Given the description of an element on the screen output the (x, y) to click on. 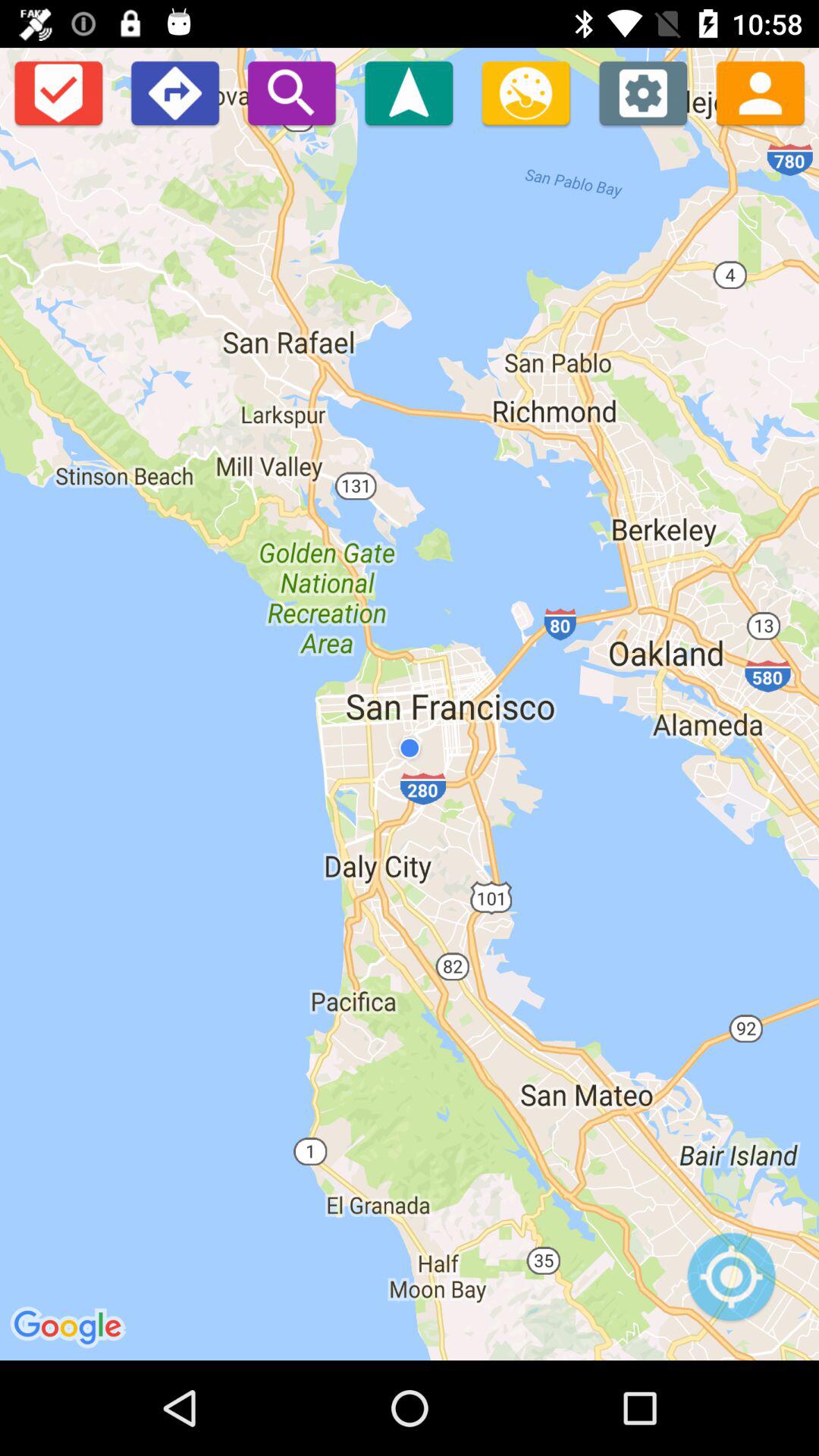
focus on your location (731, 1284)
